Given the description of an element on the screen output the (x, y) to click on. 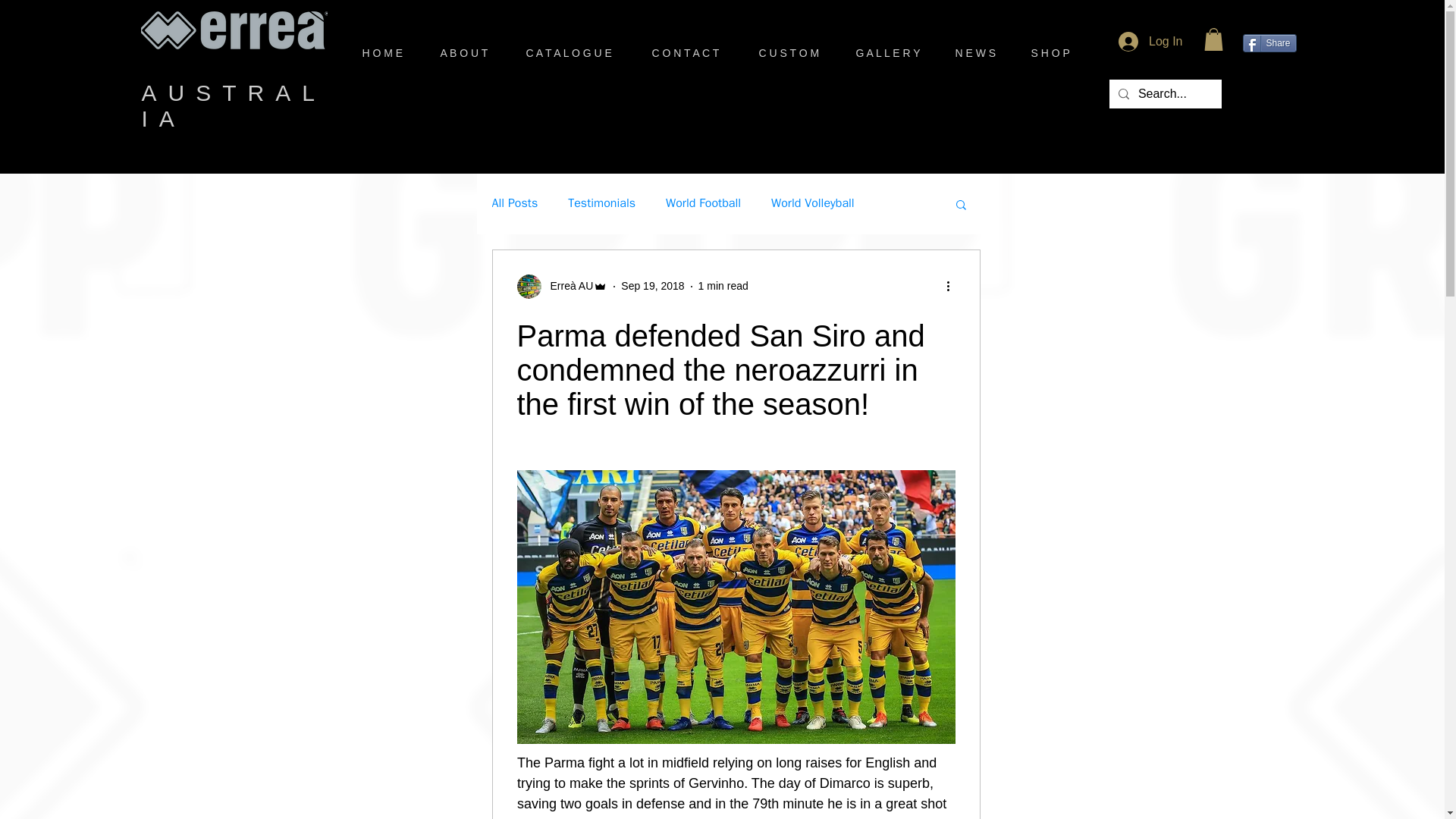
H O M E (389, 53)
All Posts (514, 203)
A B O U T (471, 53)
S H O P (1056, 53)
1 min read (723, 285)
Facebook Like (1270, 97)
Log In (1150, 41)
C A T A L O G U E (575, 53)
Sep 19, 2018 (652, 285)
C O N T A C T (689, 53)
